Given the description of an element on the screen output the (x, y) to click on. 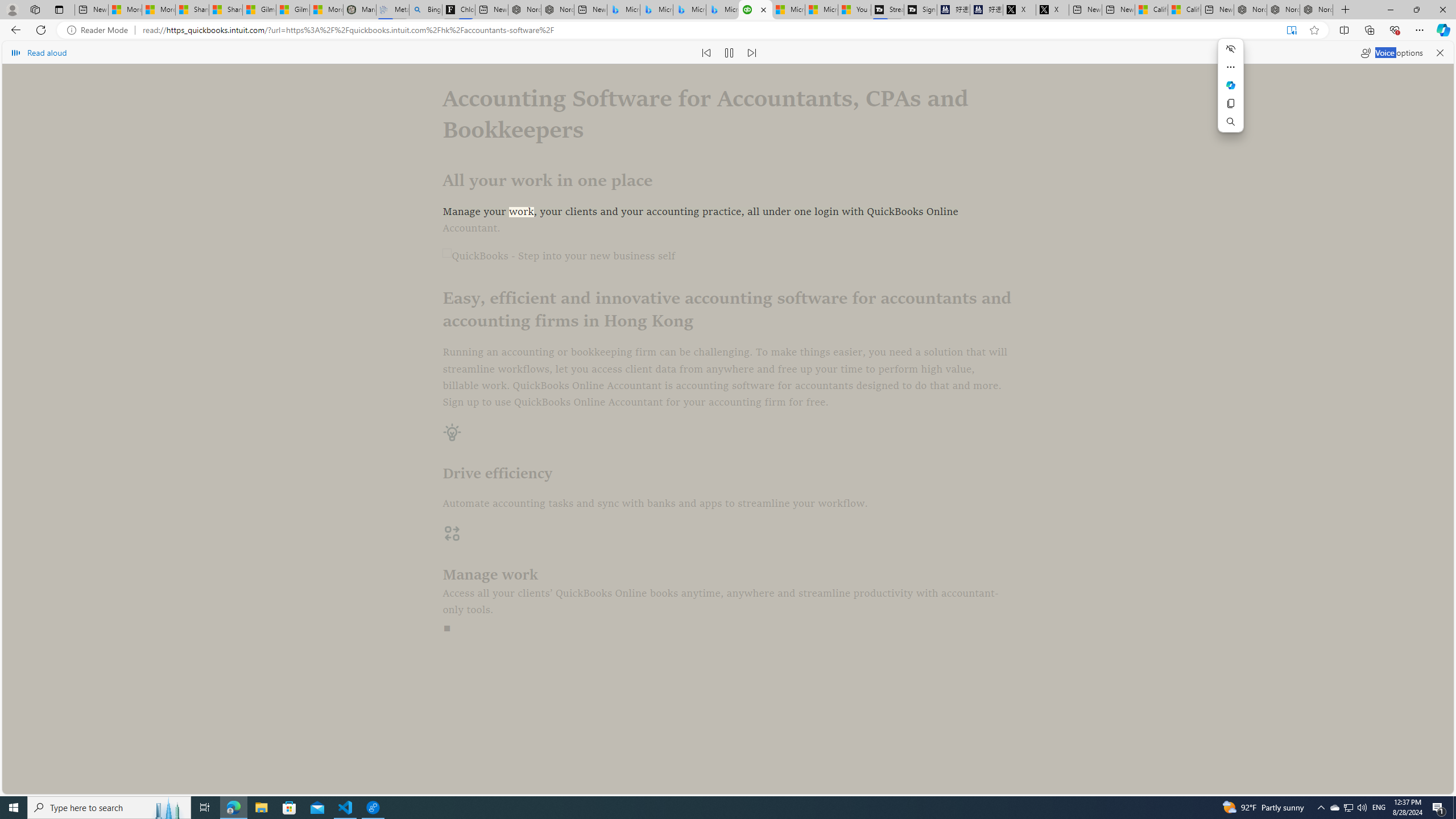
Read next paragraph (751, 52)
Mini menu on text selection (1230, 84)
Nordace - Siena Pro 15 Essential Set (1316, 9)
